Given the description of an element on the screen output the (x, y) to click on. 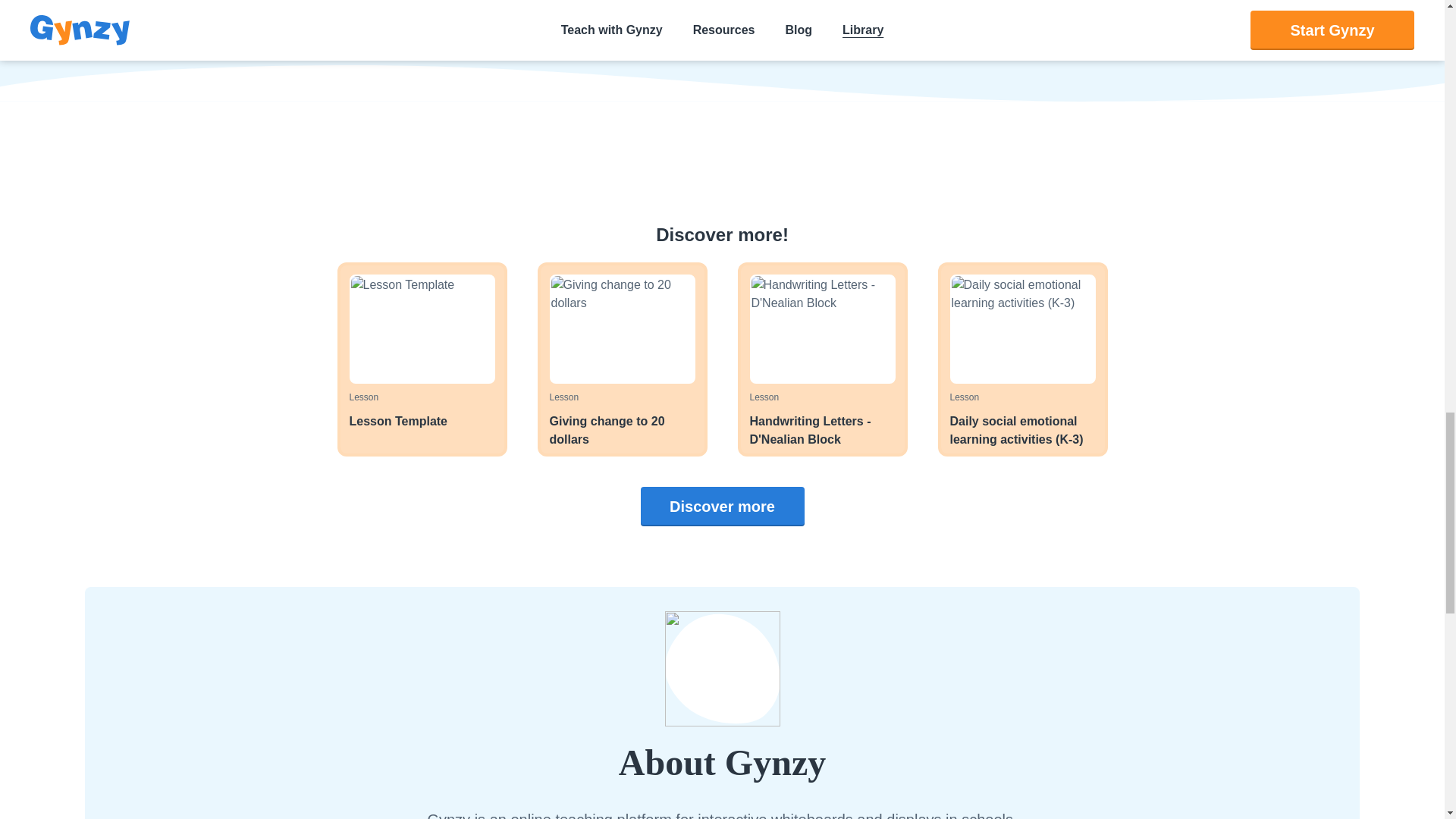
Discover more (621, 359)
